Given the description of an element on the screen output the (x, y) to click on. 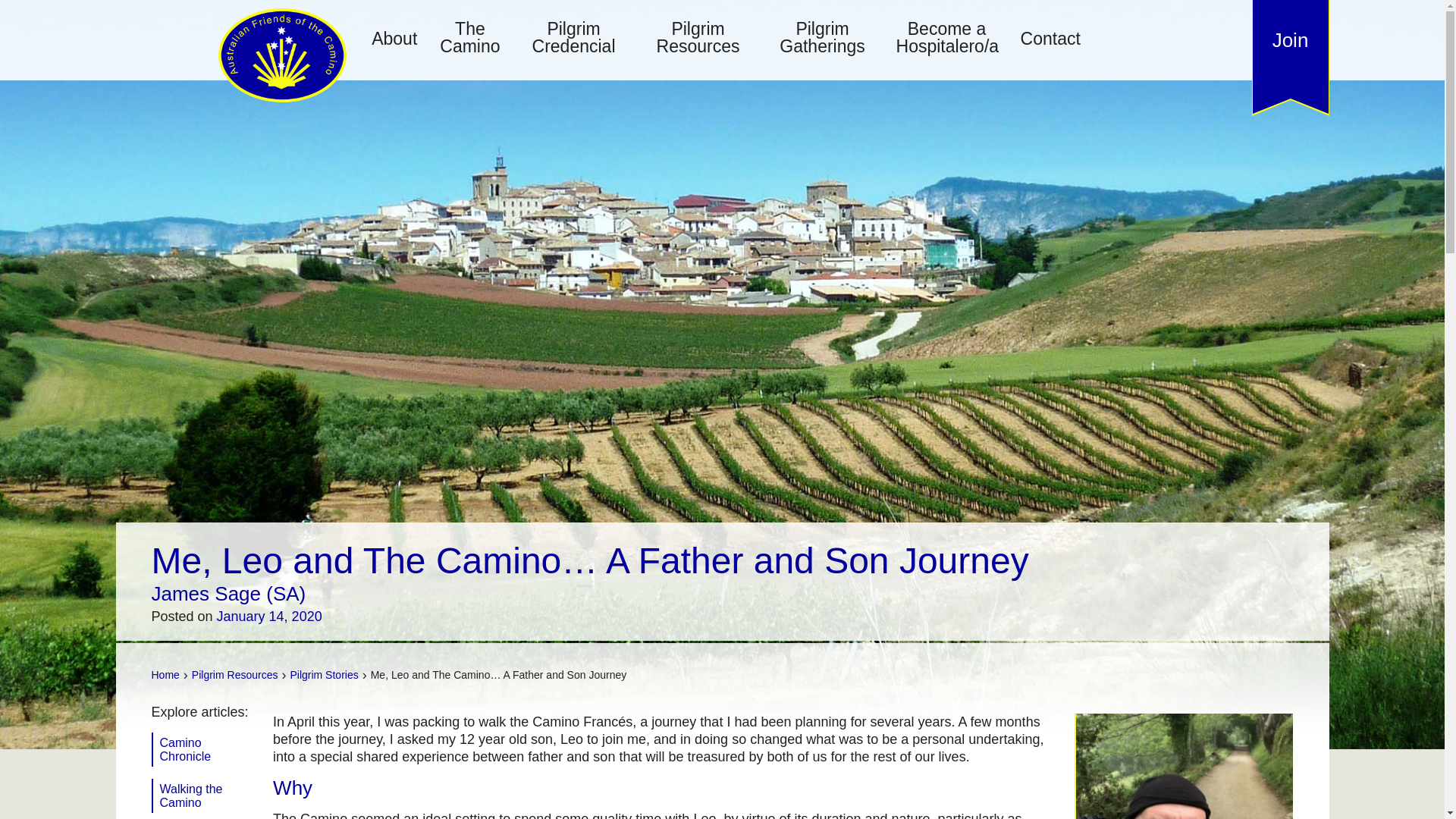
Join (1289, 40)
Pilgrim Resources (698, 38)
Home (165, 674)
Walking the Camino (205, 795)
January 14, 2020 (268, 616)
Pilgrim Stories (323, 674)
Contact (1050, 38)
Camino Chronicle (205, 749)
Home (165, 674)
Pilgrim Credencial (574, 38)
